Given the description of an element on the screen output the (x, y) to click on. 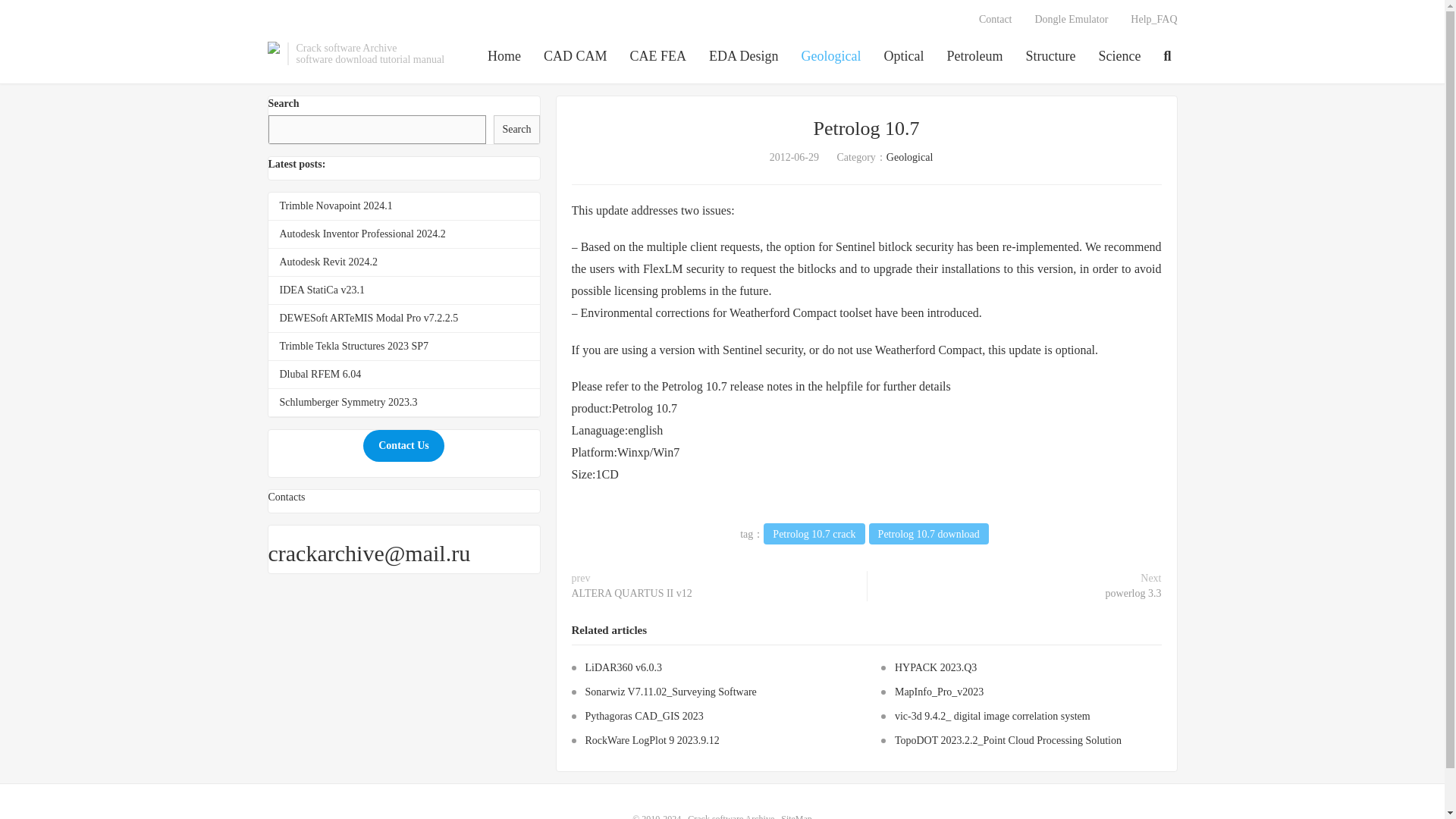
Home (504, 56)
Structure (1050, 56)
Petrolog 10.7 crack (813, 533)
Trimble Novapoint 2024.1 (335, 205)
HYPACK 2023.Q3 (935, 667)
powerlog 3.3 (1133, 593)
ALTERA QUARTUS II v12 (632, 593)
Autodesk Revit 2024.2 (328, 261)
Crack software Archive (730, 816)
Petrolog 10.7 download (928, 533)
